Given the description of an element on the screen output the (x, y) to click on. 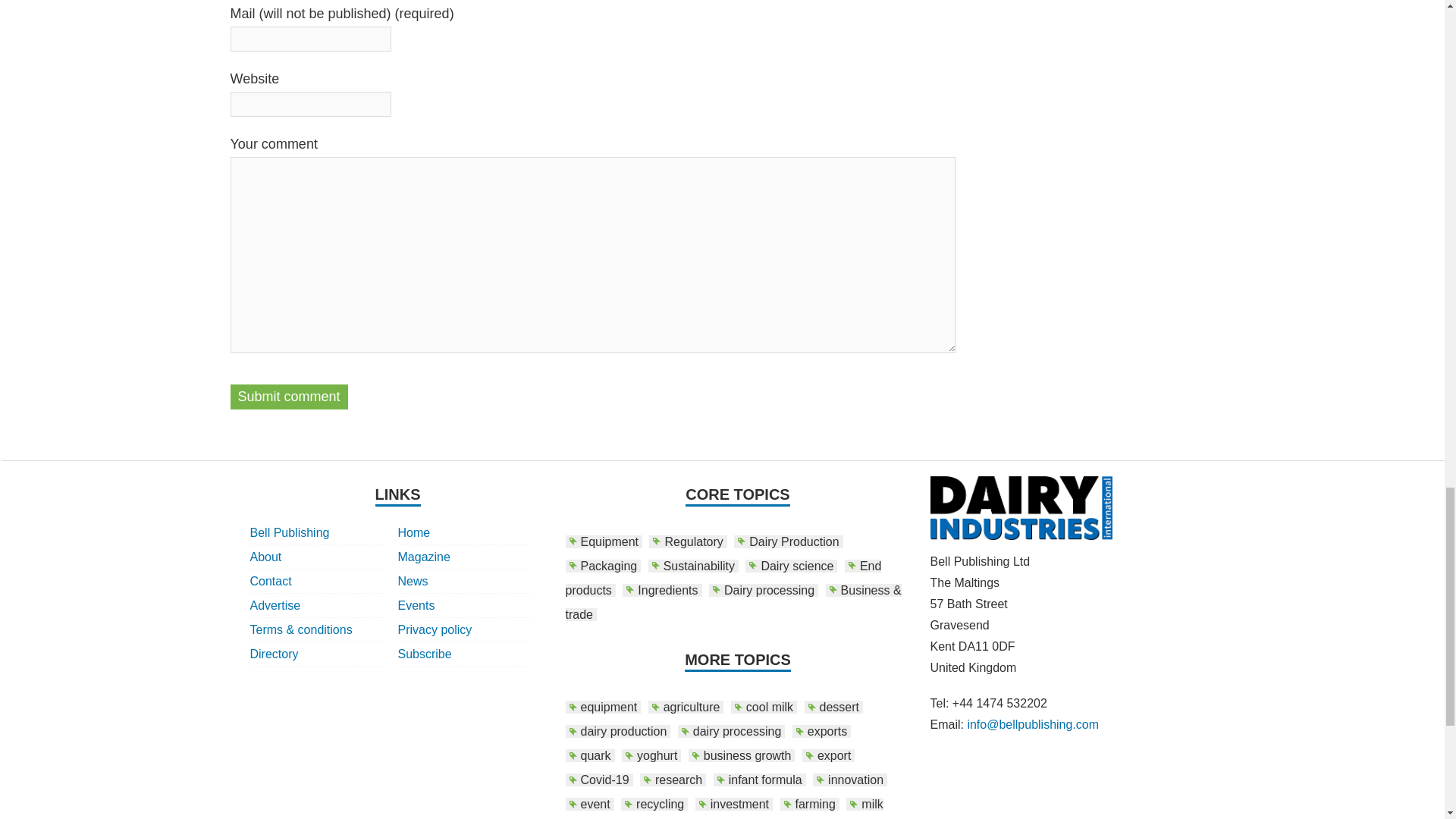
Submit comment (288, 396)
